Given the description of an element on the screen output the (x, y) to click on. 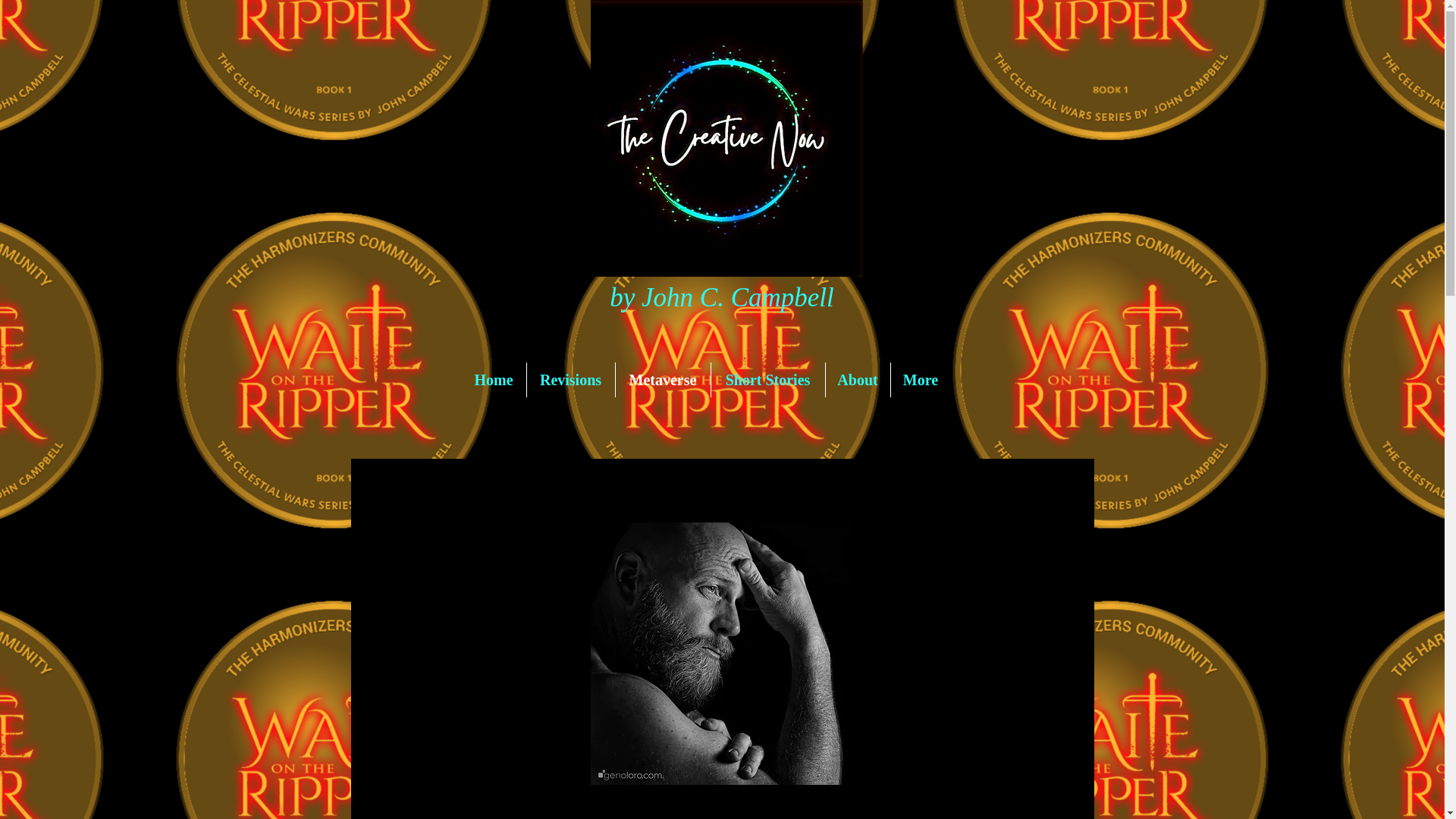
Home (493, 379)
by John C. Campbell (722, 296)
Short Stories (768, 379)
About (857, 379)
Metaverse (662, 379)
Revisions (569, 379)
